Given the description of an element on the screen output the (x, y) to click on. 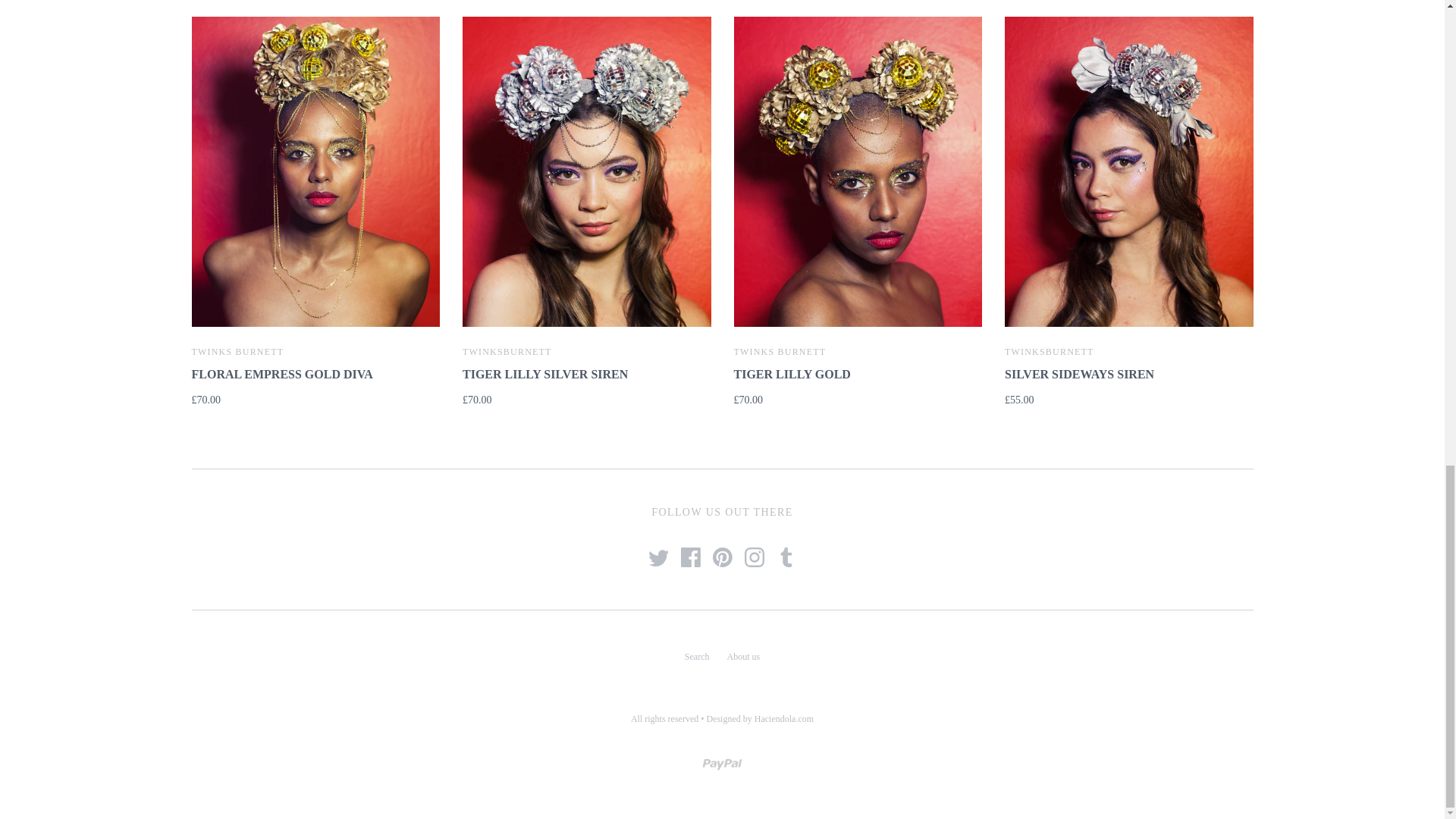
Twinks Burnett (236, 351)
twinksburnett (507, 351)
Shopify theme (783, 718)
twinksburnett (1049, 351)
Twinks Burnett (780, 351)
